Given the description of an element on the screen output the (x, y) to click on. 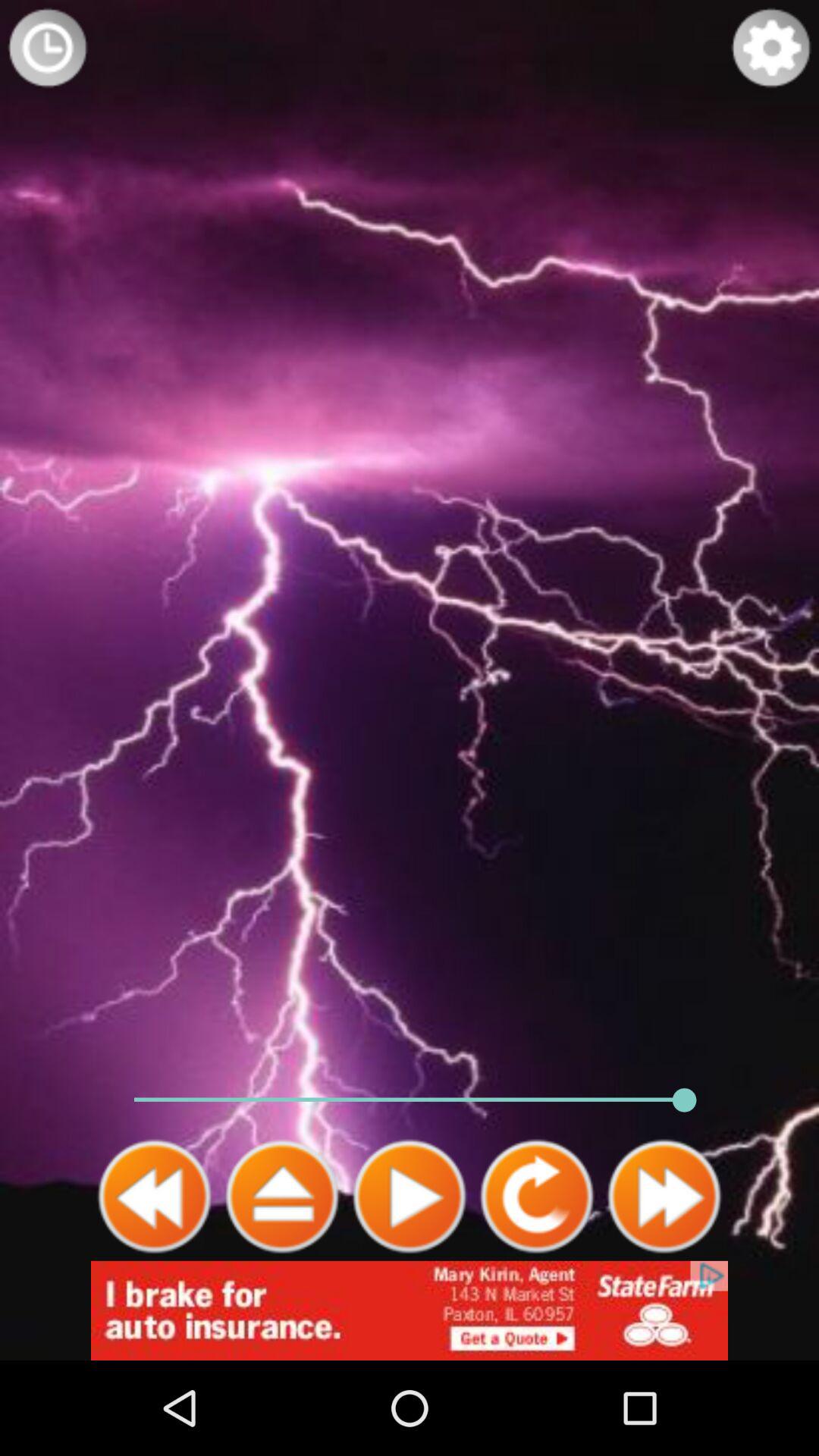
advertisement (409, 1310)
